Given the description of an element on the screen output the (x, y) to click on. 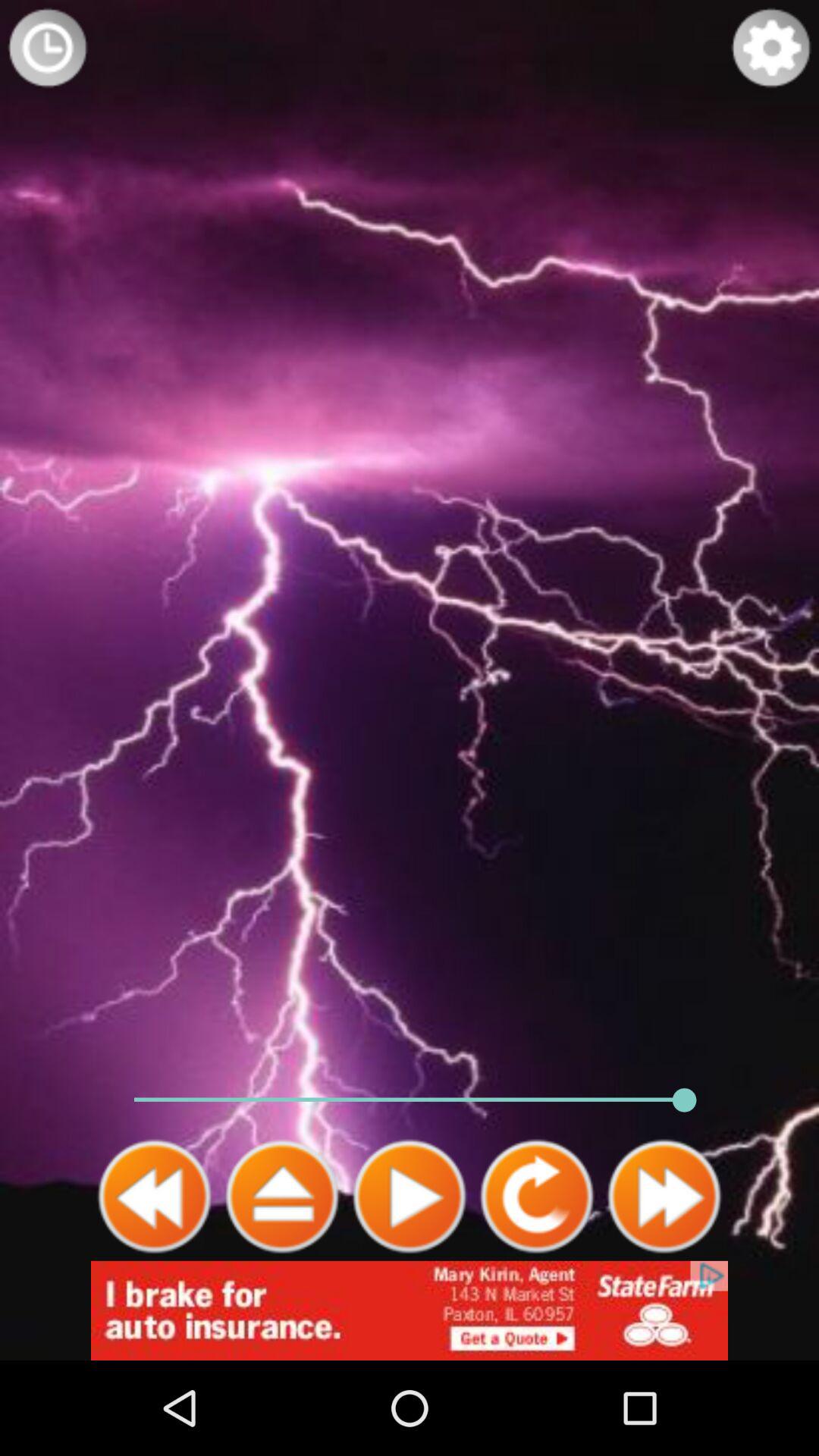
advertisement (409, 1310)
